Given the description of an element on the screen output the (x, y) to click on. 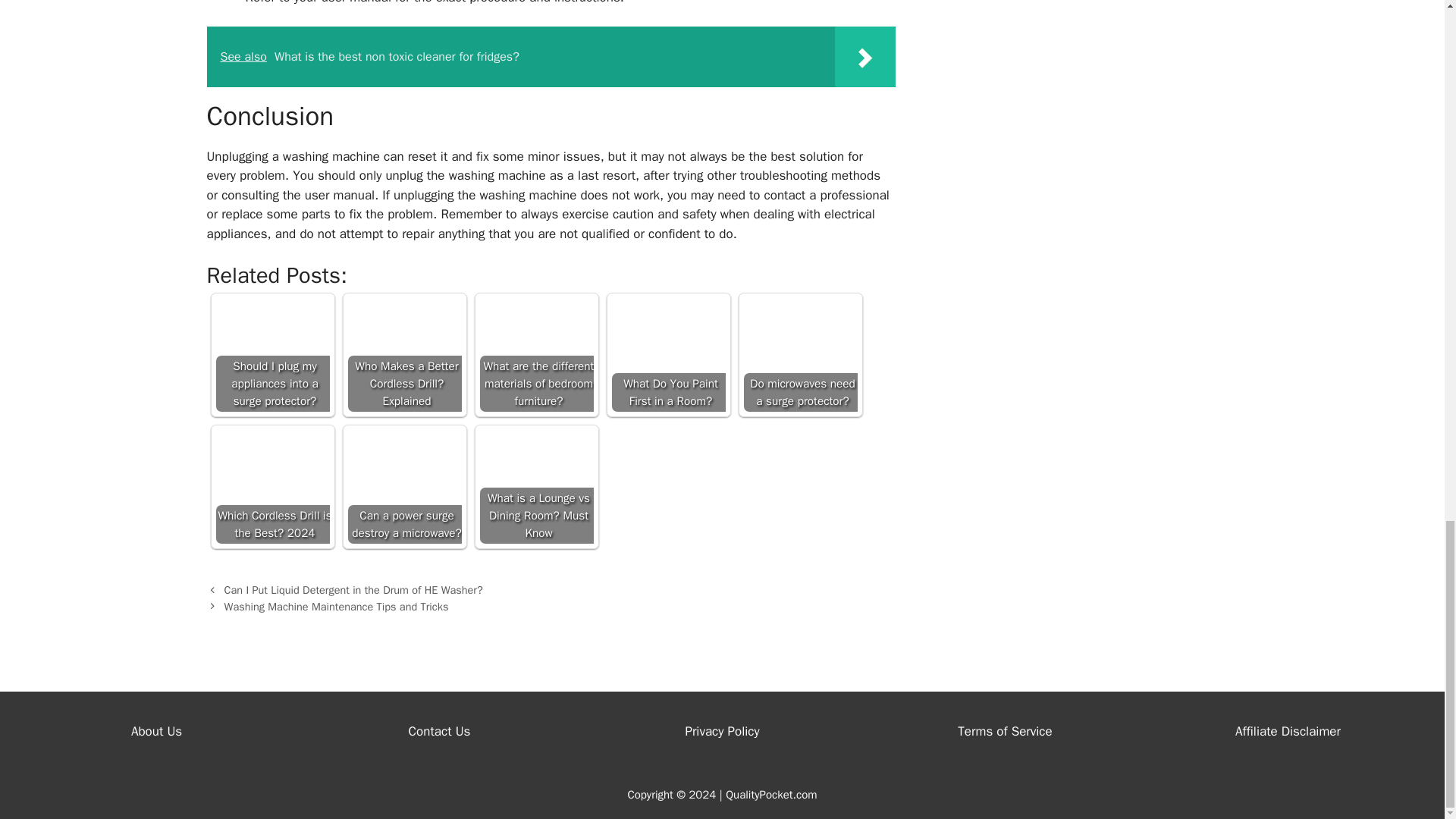
Which Cordless Drill is the Best? 2024 (272, 486)
Washing Machine Maintenance Tips and Tricks (336, 606)
Should I plug my appliances into a surge protector? (272, 354)
What is a Lounge vs Dining Room? Must Know (535, 486)
Can I Put Liquid Detergent in the Drum of HE Washer? (353, 590)
Can a power surge destroy a microwave? (404, 486)
What is a Lounge vs Dining Room? Must Know (535, 486)
What Do You Paint First in a Room? (668, 354)
What Do You Paint First in a Room? (668, 354)
See also  What is the best non toxic cleaner for fridges? (550, 56)
